Given the description of an element on the screen output the (x, y) to click on. 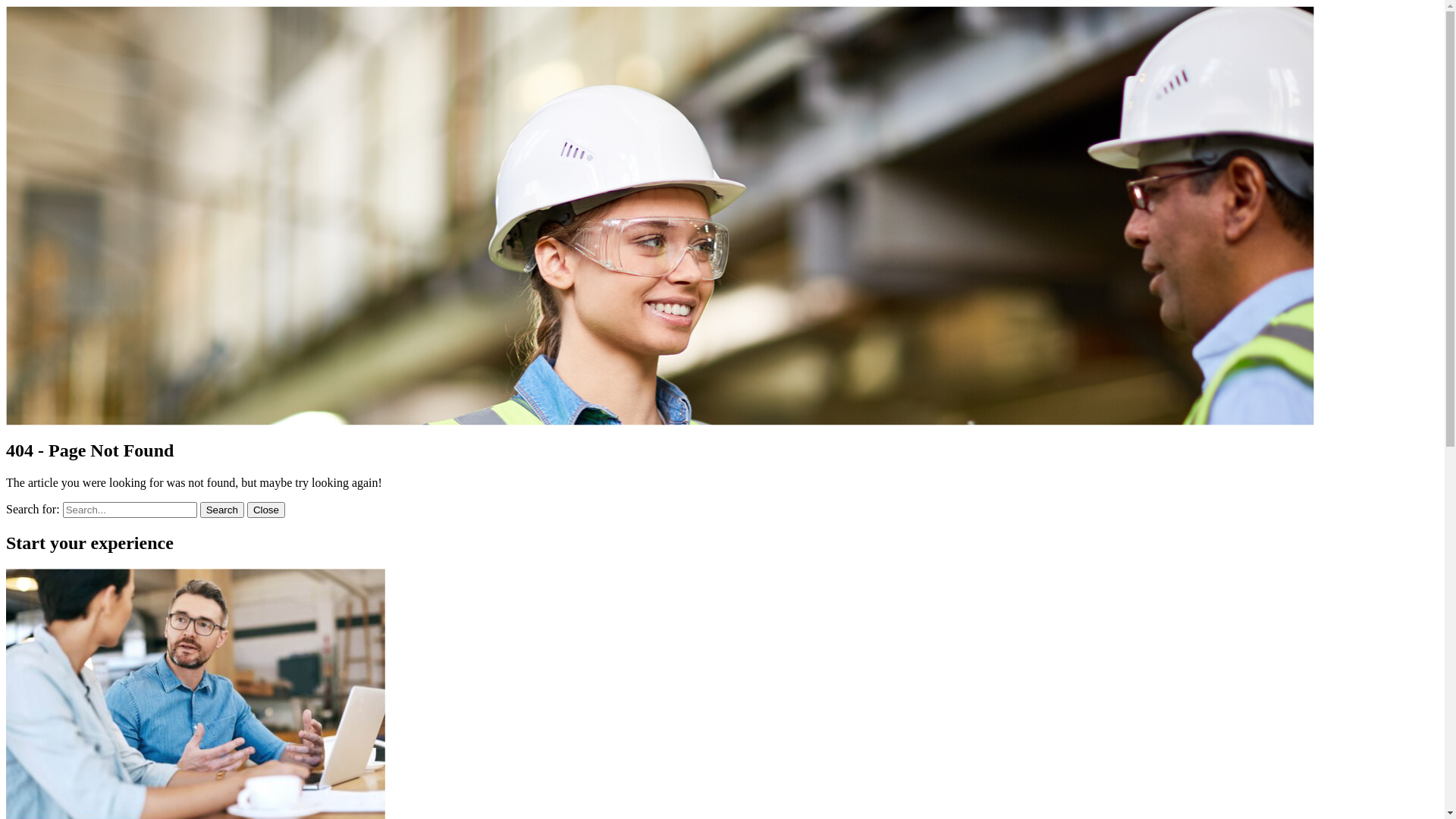
Close Element type: text (266, 509)
Search for: Element type: hover (129, 509)
Search Element type: text (222, 509)
